Given the description of an element on the screen output the (x, y) to click on. 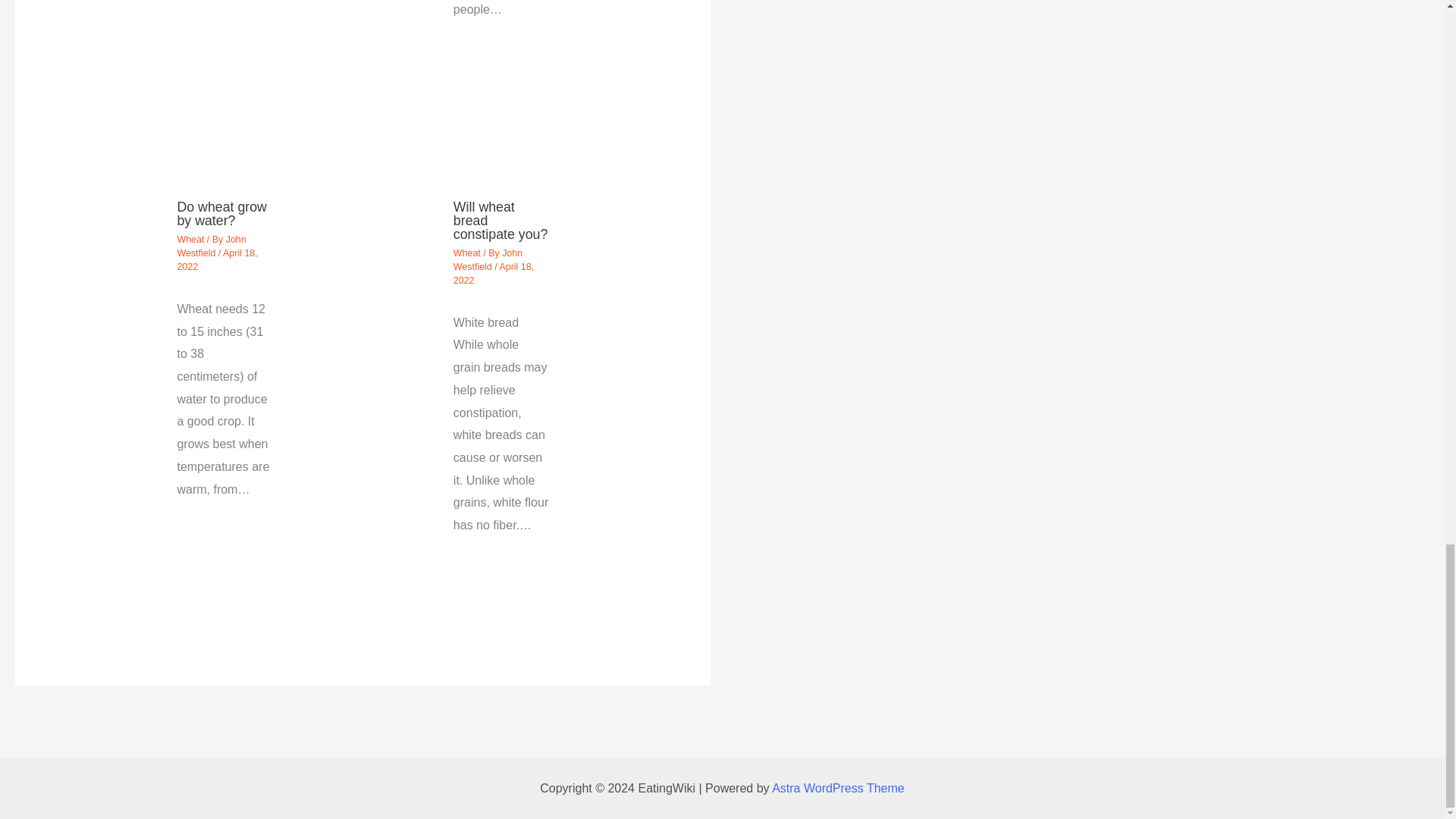
View all posts by John Westfield (211, 246)
John Westfield (211, 246)
Do wheat grow by water? (221, 213)
View all posts by John Westfield (487, 259)
Will wheat bread constipate you? (499, 220)
Wheat (189, 239)
John Westfield (487, 259)
Wheat (466, 253)
